Given the description of an element on the screen output the (x, y) to click on. 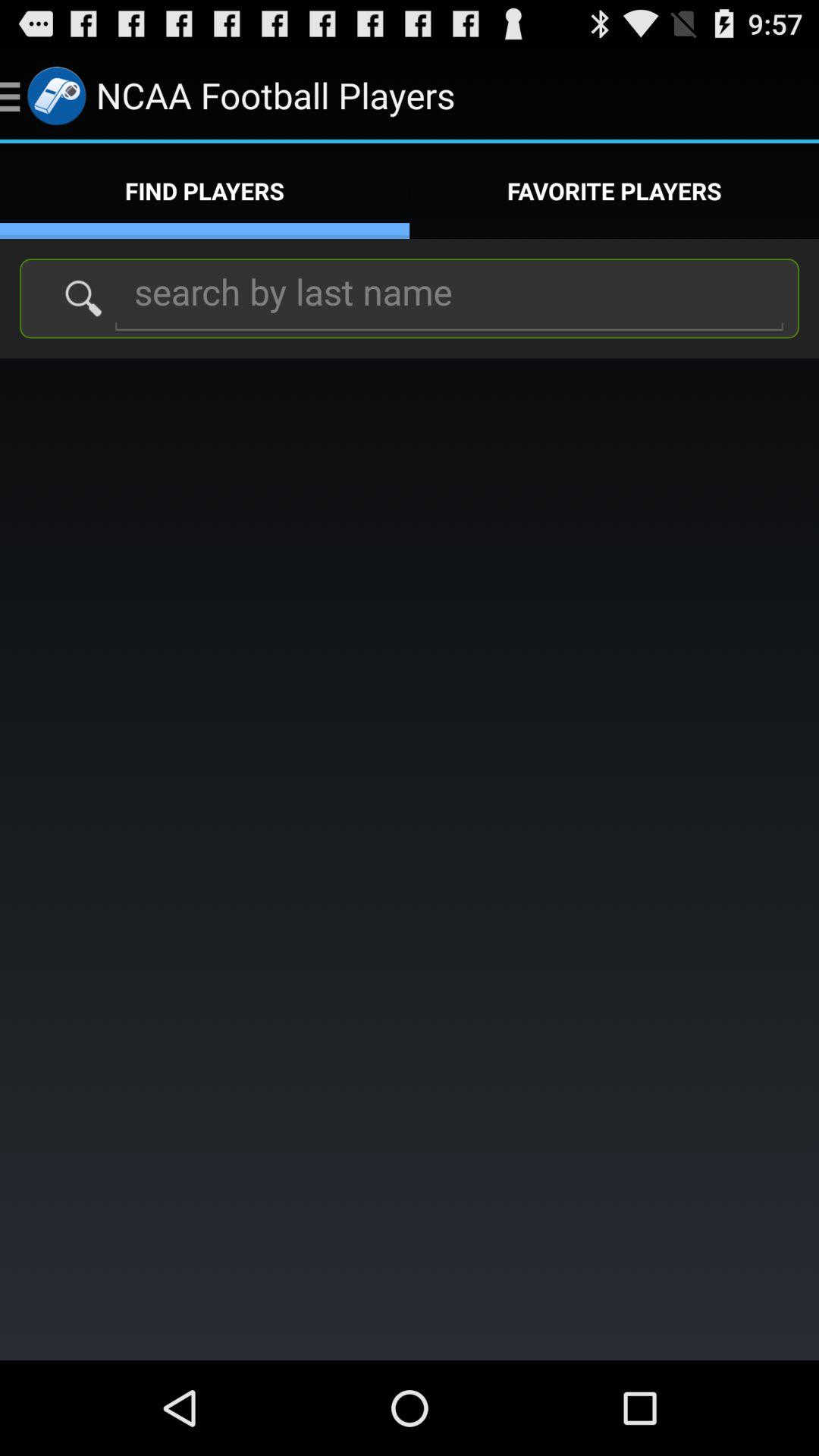
tap favorite players at the top right corner (614, 190)
